Given the description of an element on the screen output the (x, y) to click on. 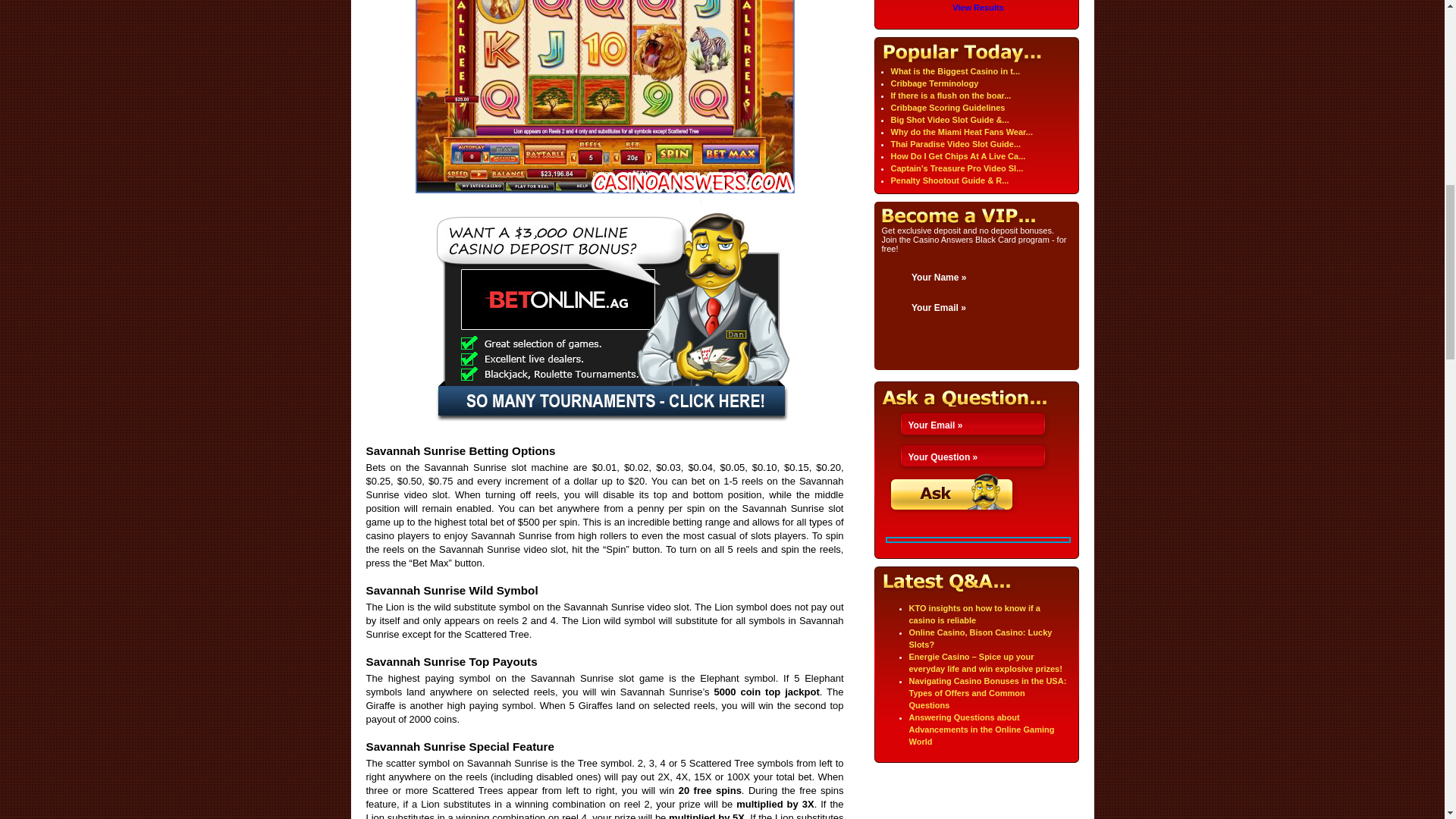
View Results Of This Poll (978, 7)
What is the Biggest Casino in the World? (954, 71)
If there is a flush on the board, what happens to the pot? (949, 94)
savannah-sunrise-cryptologic-video-slot-01 (604, 96)
Online Casino, Bison Casino: Lucky Slots? (979, 638)
How Do I Get Chips At A Live Casino? (957, 155)
KTO insights on how to know if a casino is reliable (973, 613)
Send (951, 492)
